Given the description of an element on the screen output the (x, y) to click on. 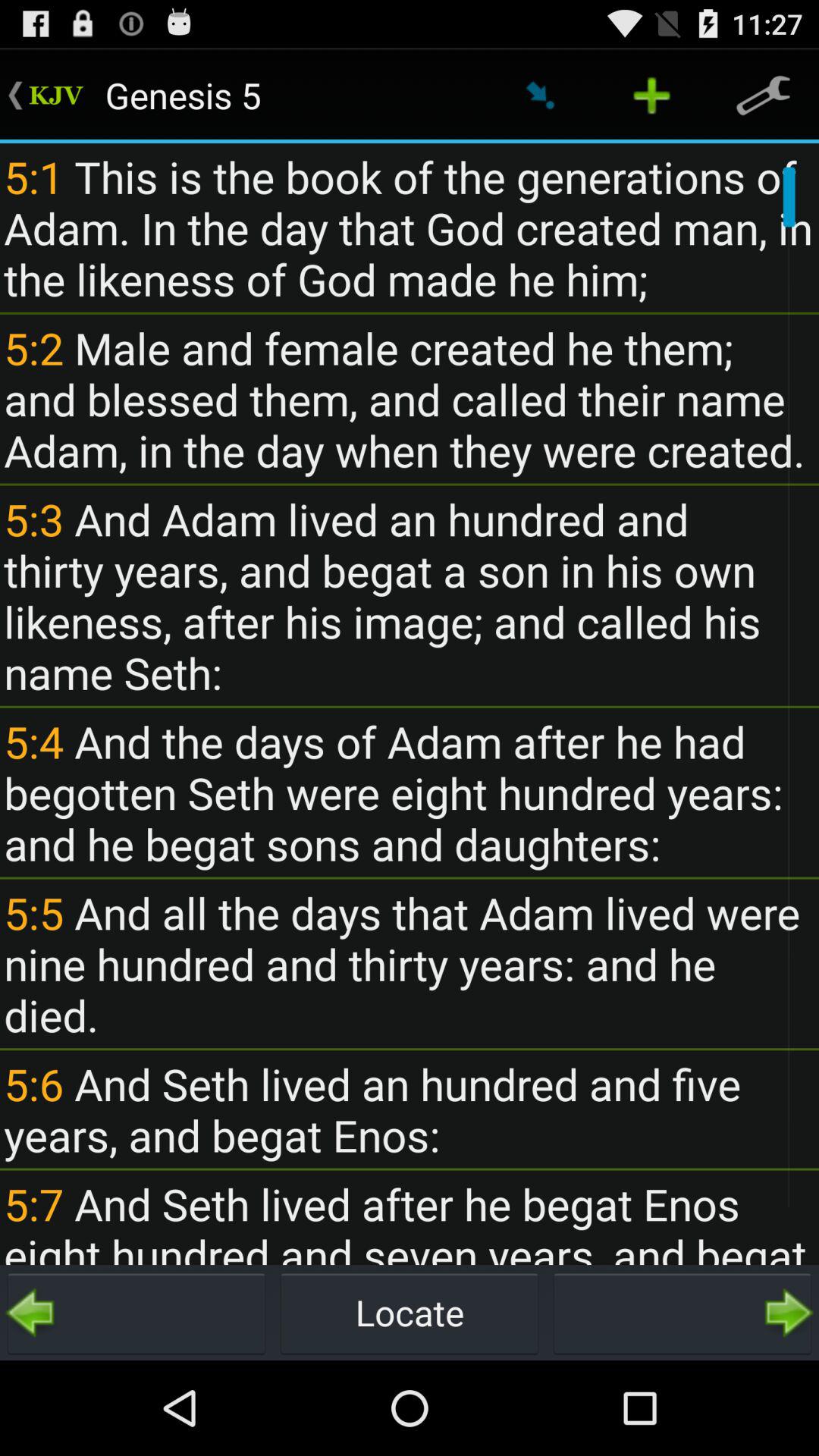
launch the button to the right of the locate button (682, 1312)
